Given the description of an element on the screen output the (x, y) to click on. 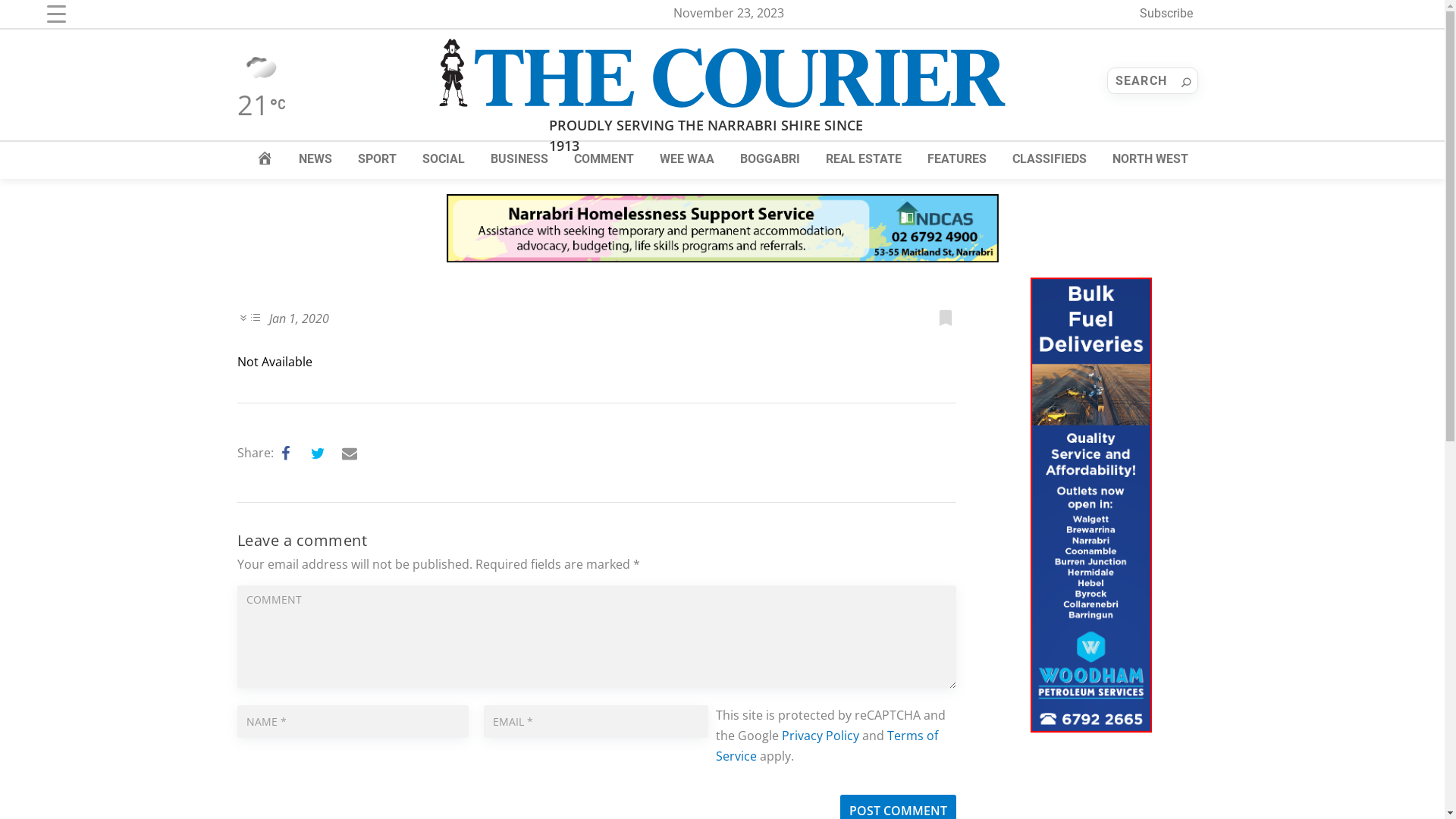
Share via Email Element type: hover (349, 453)
COMMENT Element type: text (603, 159)
Share on Facebook Element type: hover (285, 453)
Privacy Policy Element type: text (820, 735)
SPORT Element type: text (376, 159)
SOCIAL Element type: text (443, 159)
BUSINESS Element type: text (519, 159)
Terms of Service Element type: text (826, 745)
WEE WAA Element type: text (686, 159)
Go back Element type: text (15, 17)
FEATURES Element type: text (956, 159)
Search for: Element type: hover (1152, 80)
HOME Element type: text (264, 159)
NEWS Element type: text (315, 159)
Share on Twitter Element type: hover (317, 453)
Subscribe Element type: text (1165, 13)
NORTH WEST Element type: text (1150, 159)
BOGGABRI Element type: text (770, 159)
REAL ESTATE Element type: text (863, 159)
CLASSIFIEDS Element type: text (1049, 159)
